Given the description of an element on the screen output the (x, y) to click on. 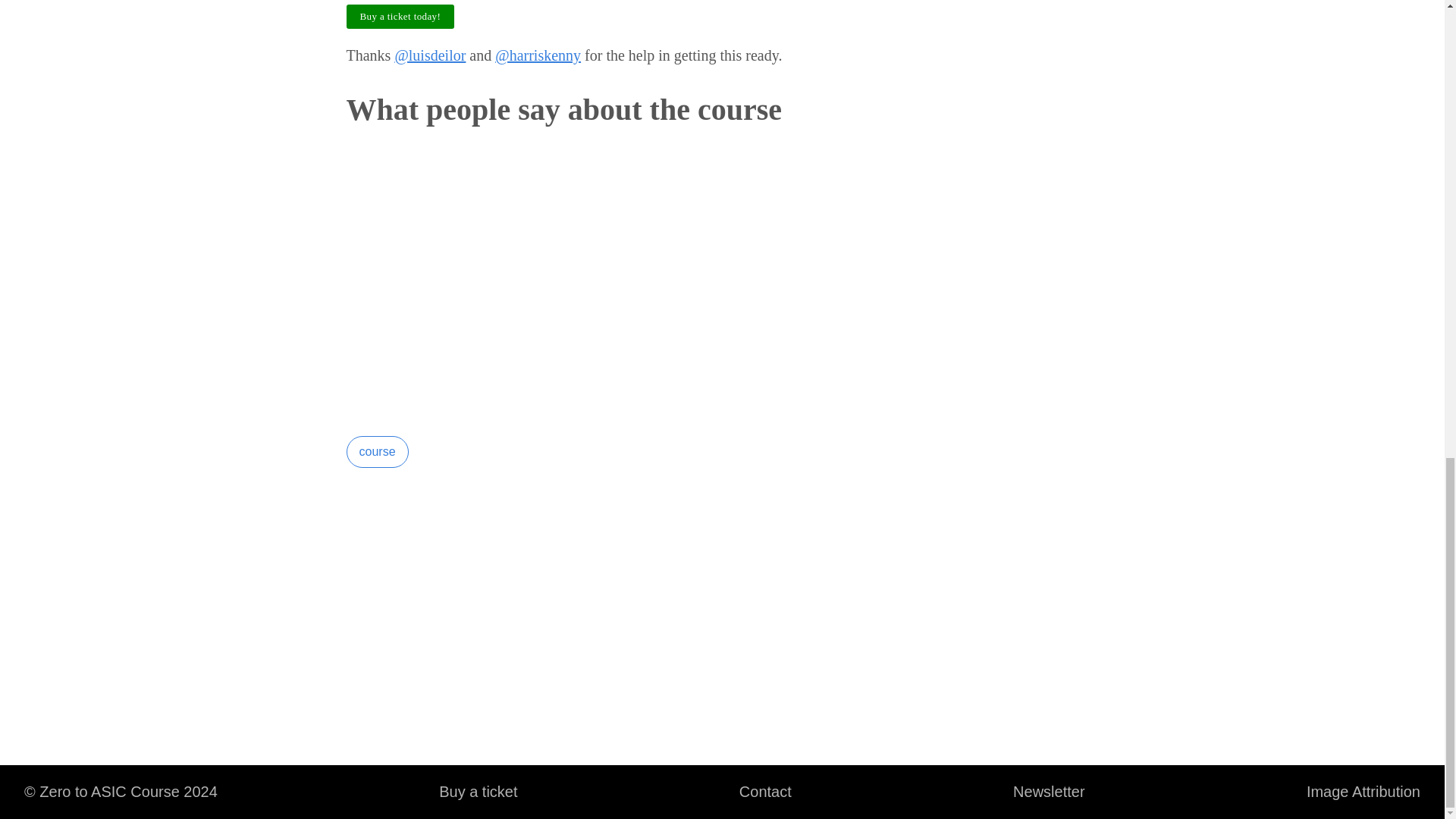
Newsletter (1048, 791)
Image Attribution (1363, 791)
Buy a ticket today! (400, 13)
Buy a ticket (477, 791)
YouTube Video (584, 286)
Contact (764, 791)
Buy a ticket today! (400, 16)
course (376, 451)
